Given the description of an element on the screen output the (x, y) to click on. 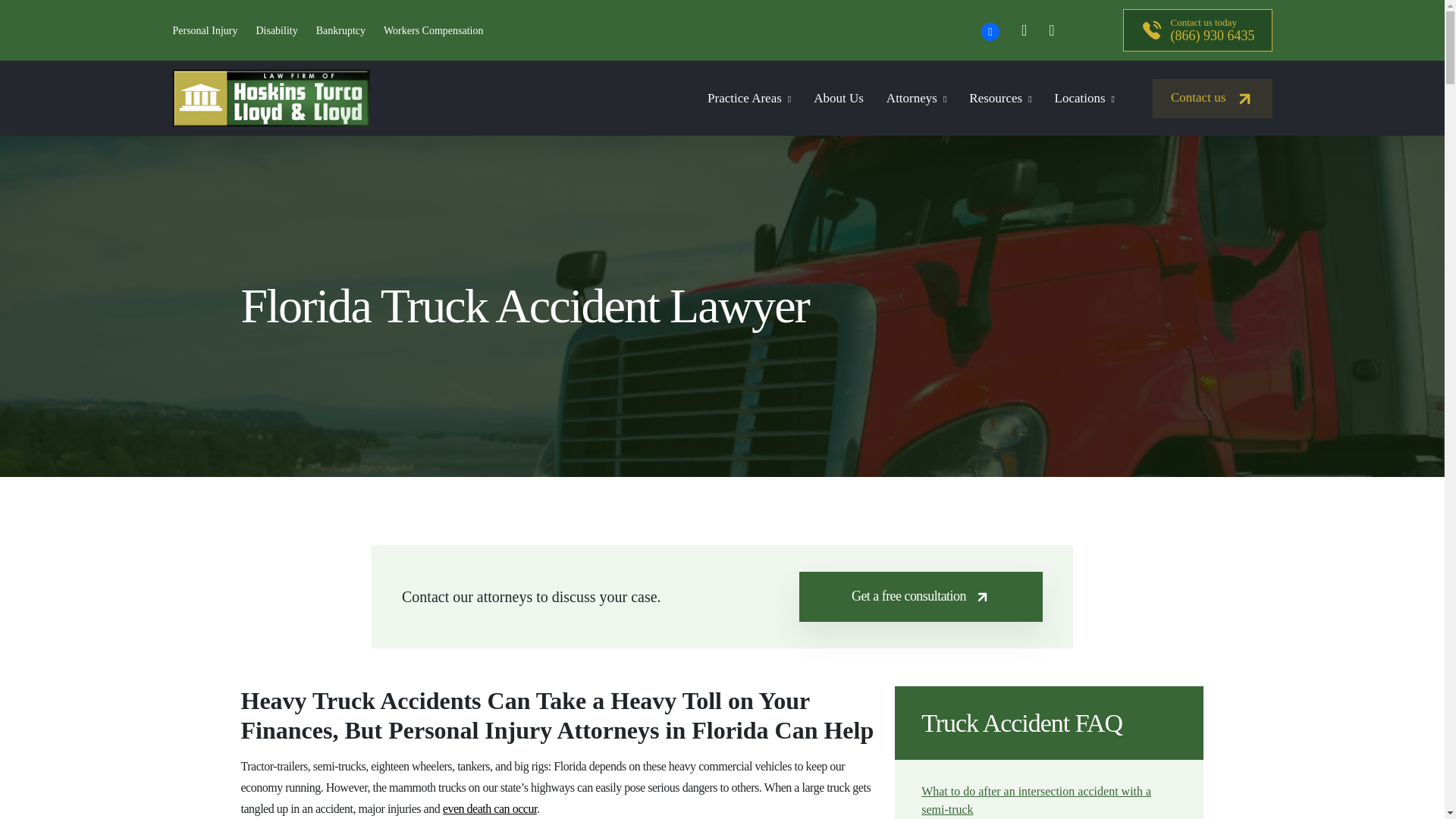
About Us (838, 98)
Get a free consultation (920, 596)
Resources (999, 98)
Attorneys (916, 98)
even death can occur (489, 808)
Contact us (1212, 97)
Locations (1084, 98)
Personal Injury (205, 30)
Workers Compensation (433, 30)
Disability (276, 30)
Bankruptcy (340, 30)
Practice Areas (748, 98)
